Given the description of an element on the screen output the (x, y) to click on. 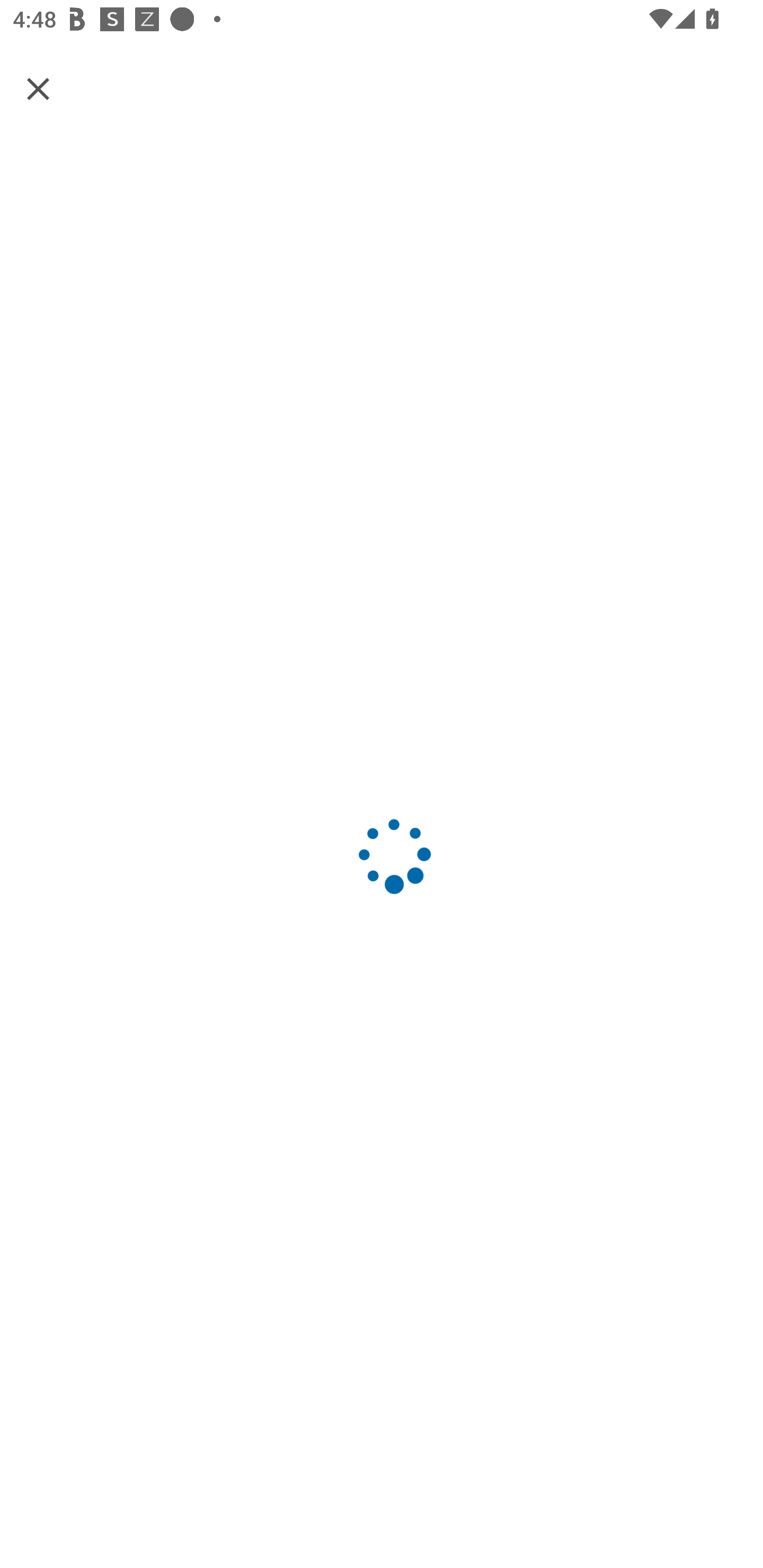
Close (38, 88)
